Given the description of an element on the screen output the (x, y) to click on. 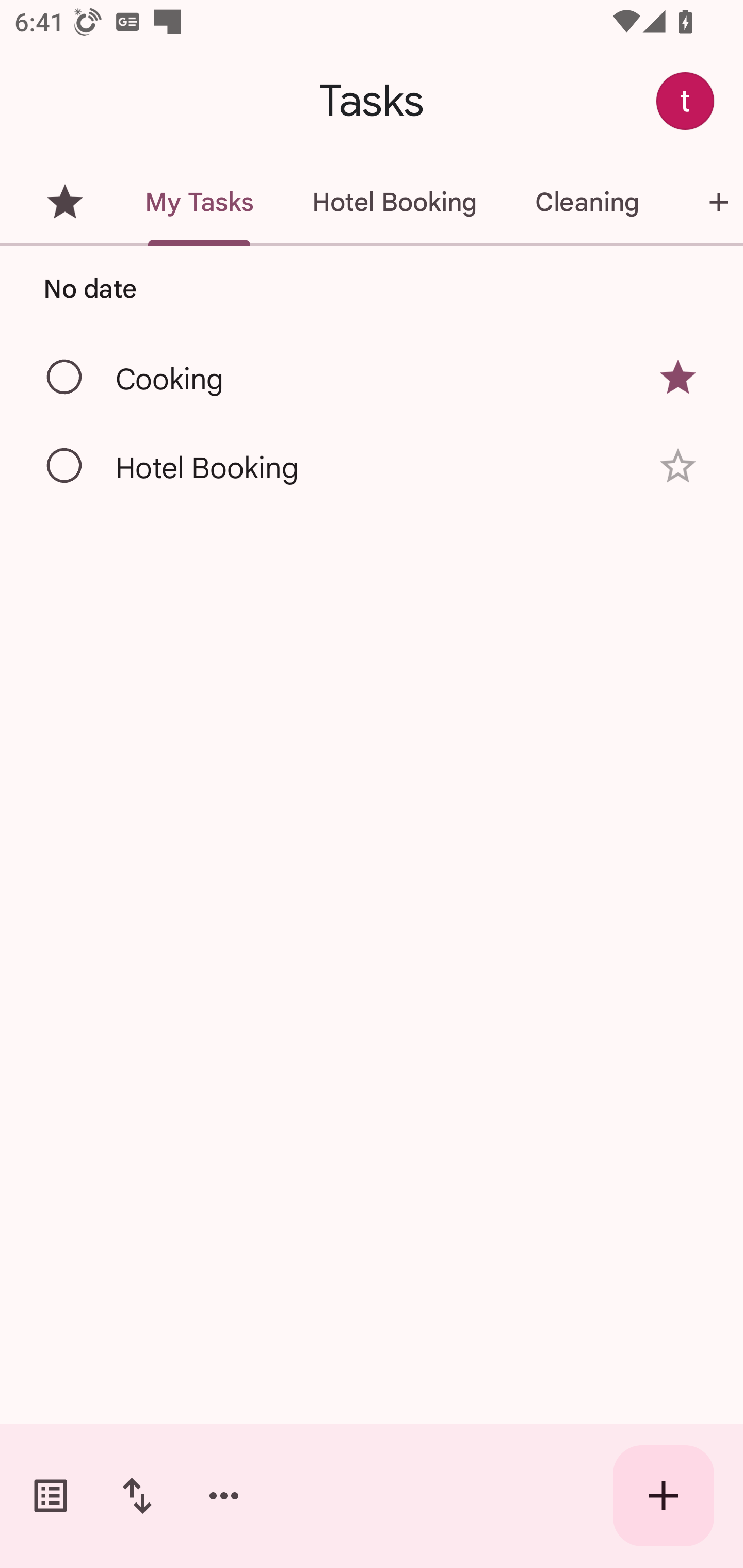
Starred (64, 202)
Hotel Booking (394, 202)
Cleaning (586, 202)
New list (705, 202)
Remove star (677, 376)
Mark as complete (64, 377)
Add star (677, 466)
Mark as complete (64, 466)
Switch task lists (50, 1495)
Create new task (663, 1495)
Change sort order (136, 1495)
More options (223, 1495)
